Given the description of an element on the screen output the (x, y) to click on. 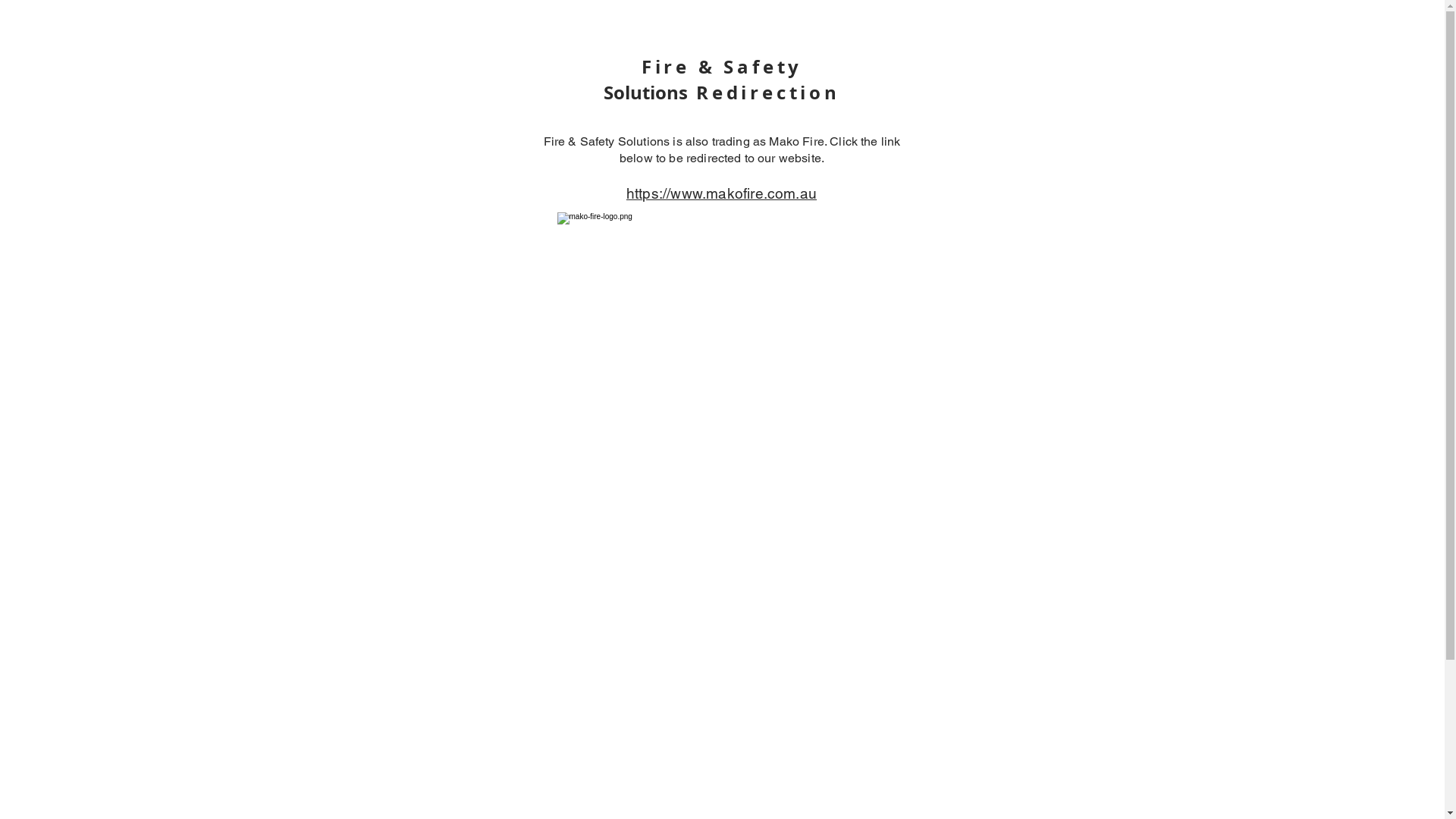
https://www.makofire.com.au Element type: text (721, 193)
Fire & Safety Solutions Redirection Element type: text (721, 79)
